Given the description of an element on the screen output the (x, y) to click on. 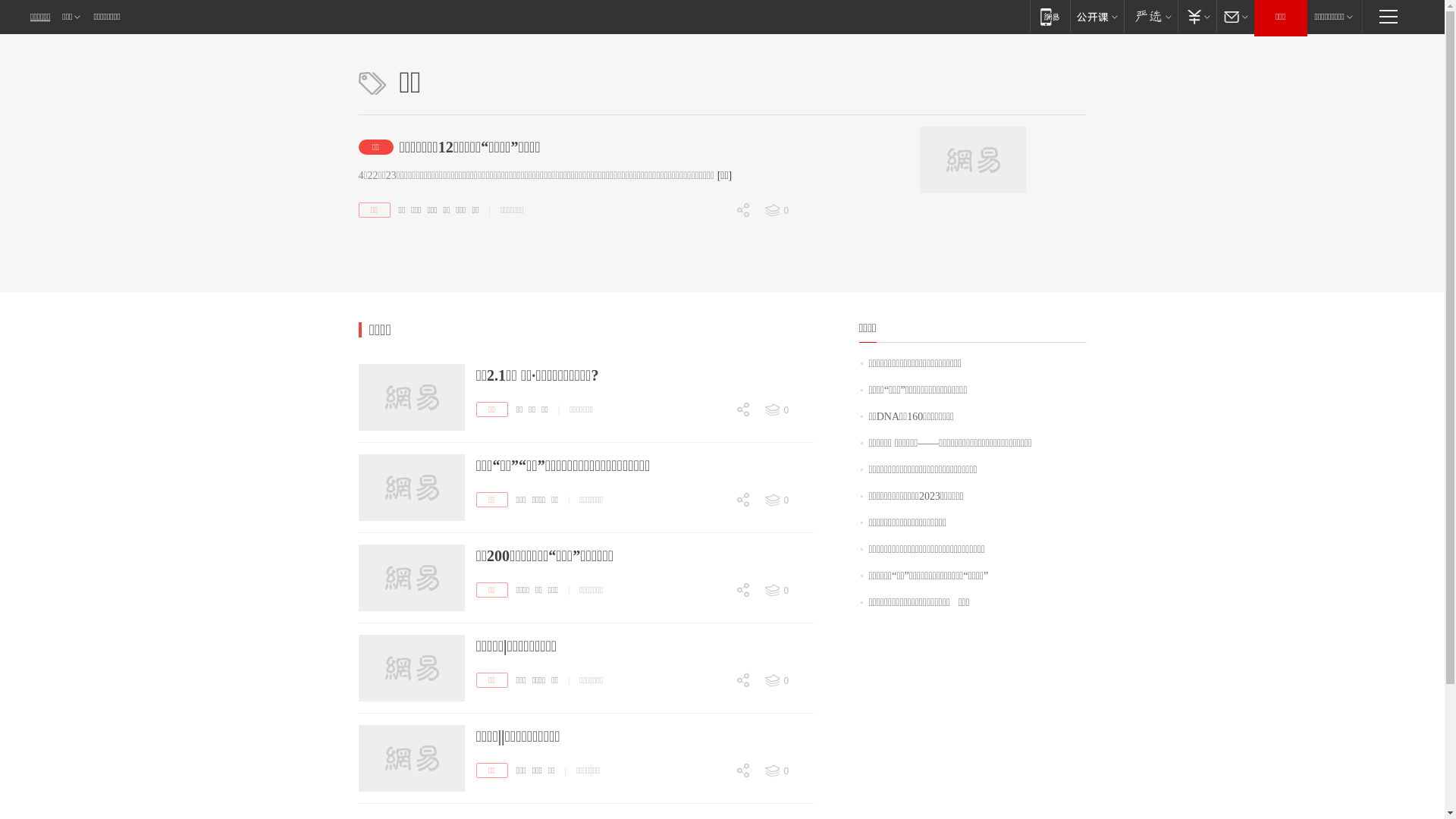
0 Element type: text (712, 616)
0 Element type: text (712, 605)
0 Element type: text (787, 210)
0 Element type: text (712, 706)
0 Element type: text (712, 579)
0 Element type: text (712, 436)
0 Element type: text (787, 590)
0 Element type: text (787, 680)
0 Element type: text (712, 289)
0 Element type: text (712, 236)
0 Element type: text (787, 770)
0 Element type: text (712, 515)
0 Element type: text (712, 797)
0 Element type: text (712, 786)
0 Element type: text (787, 409)
0 Element type: text (712, 696)
0 Element type: text (712, 316)
0 Element type: text (712, 489)
0 Element type: text (712, 669)
0 Element type: text (787, 500)
0 Element type: text (712, 526)
0 Element type: text (712, 759)
